Given the description of an element on the screen output the (x, y) to click on. 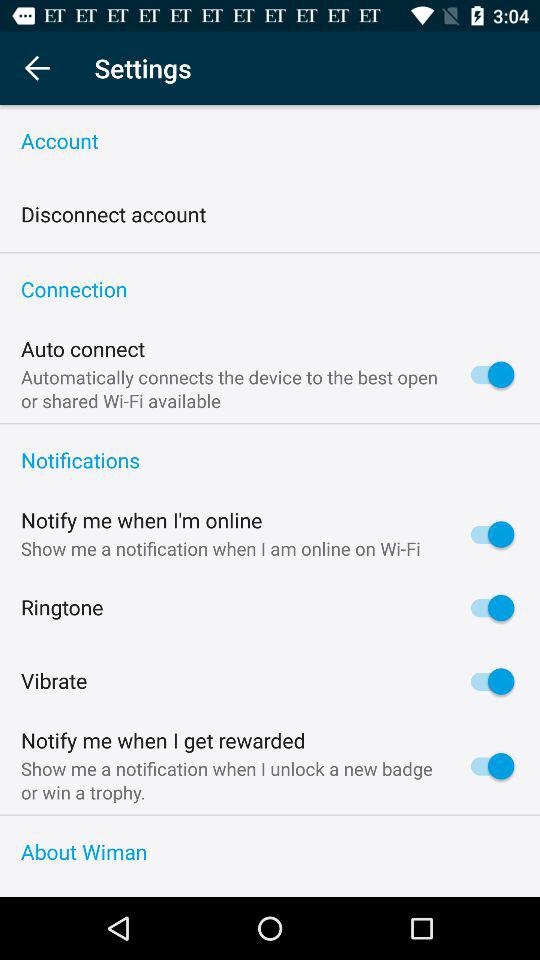
flip to about wiman item (270, 852)
